Given the description of an element on the screen output the (x, y) to click on. 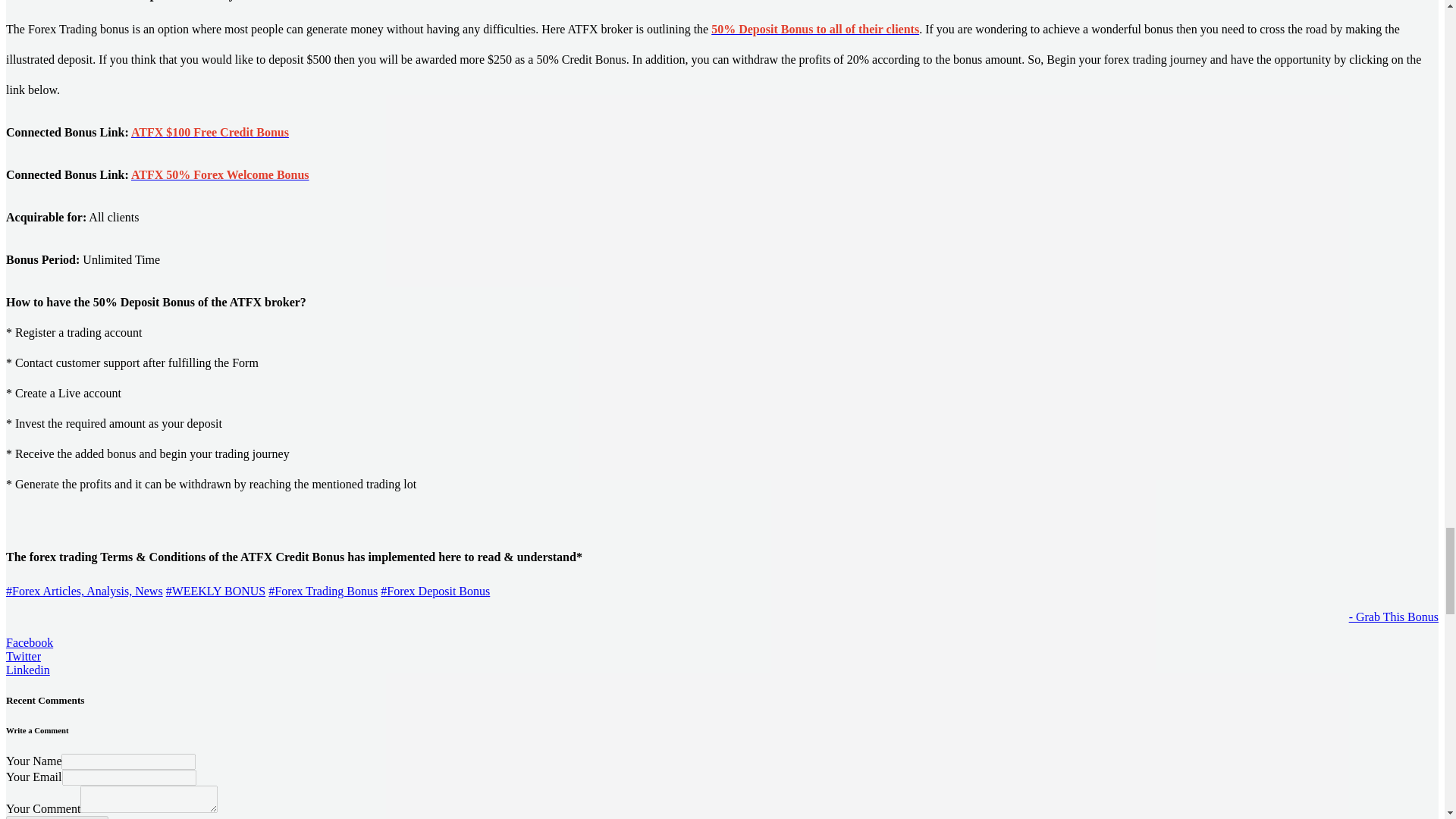
Post Your Comment (56, 817)
